Given the description of an element on the screen output the (x, y) to click on. 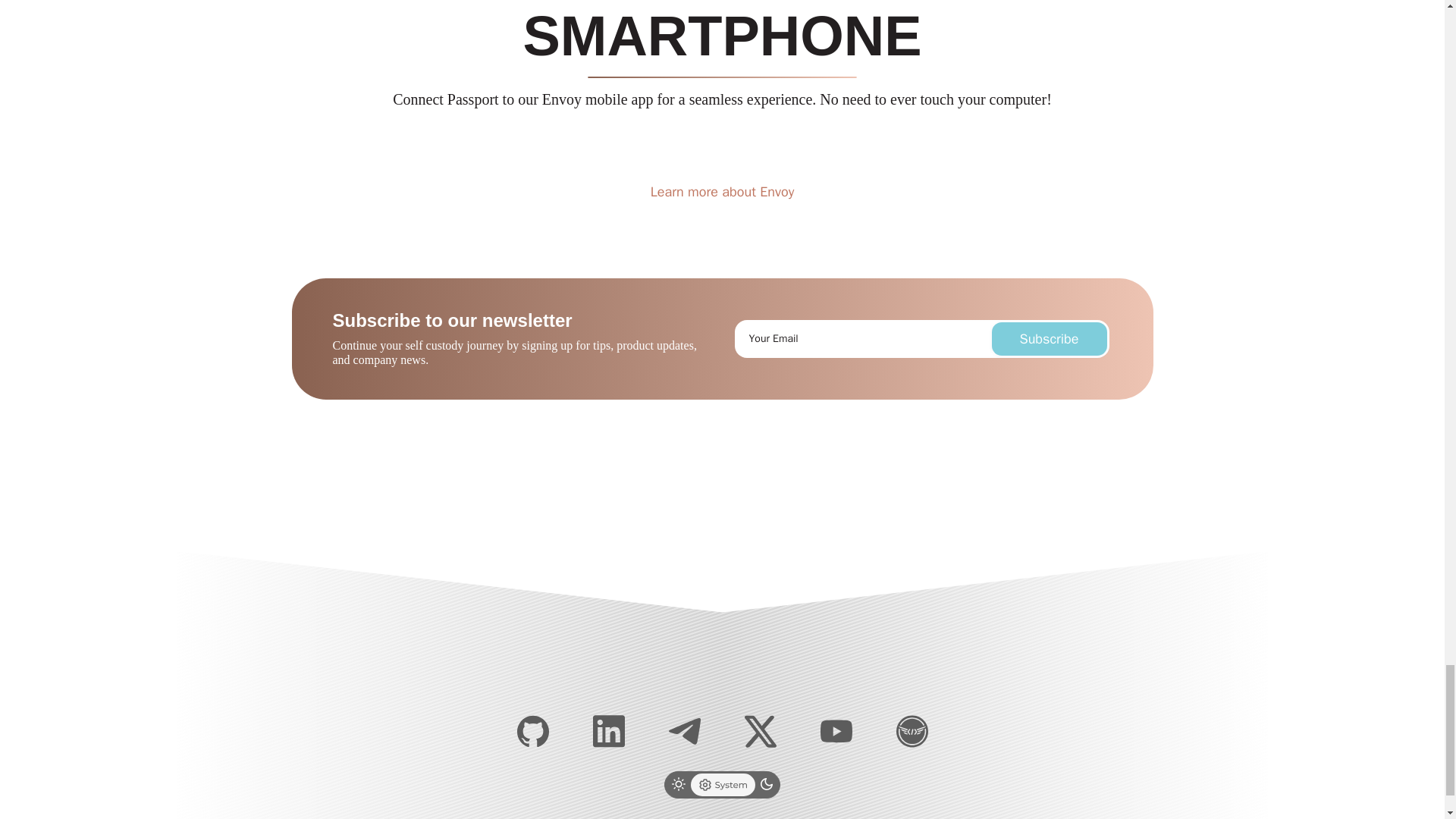
system (722, 784)
Subscribe (1048, 338)
Learn more about Envoy (721, 191)
Subscribe (1048, 338)
dark (766, 784)
light (678, 784)
